Given the description of an element on the screen output the (x, y) to click on. 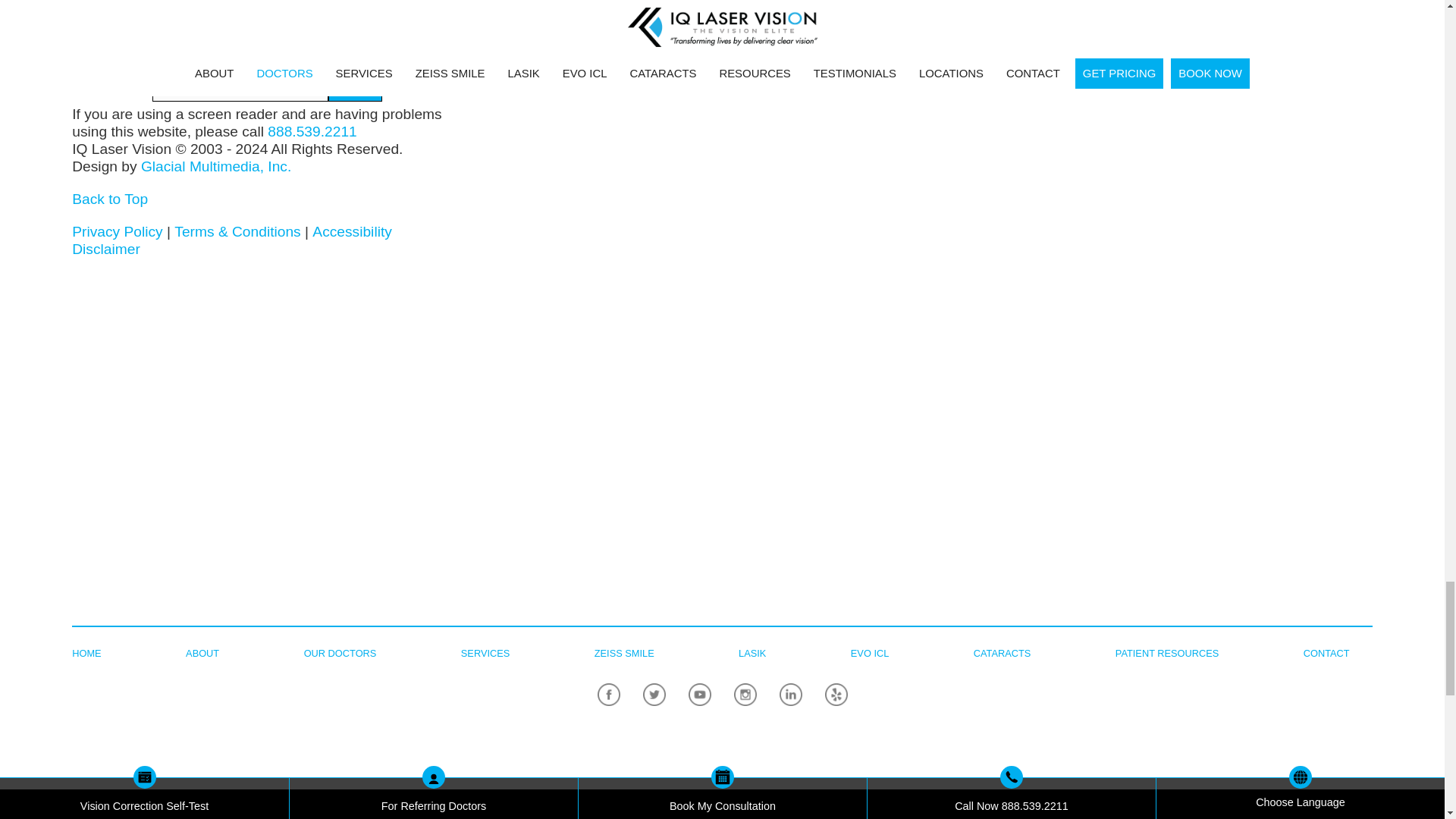
Submit (355, 88)
Submit (355, 88)
